Given the description of an element on the screen output the (x, y) to click on. 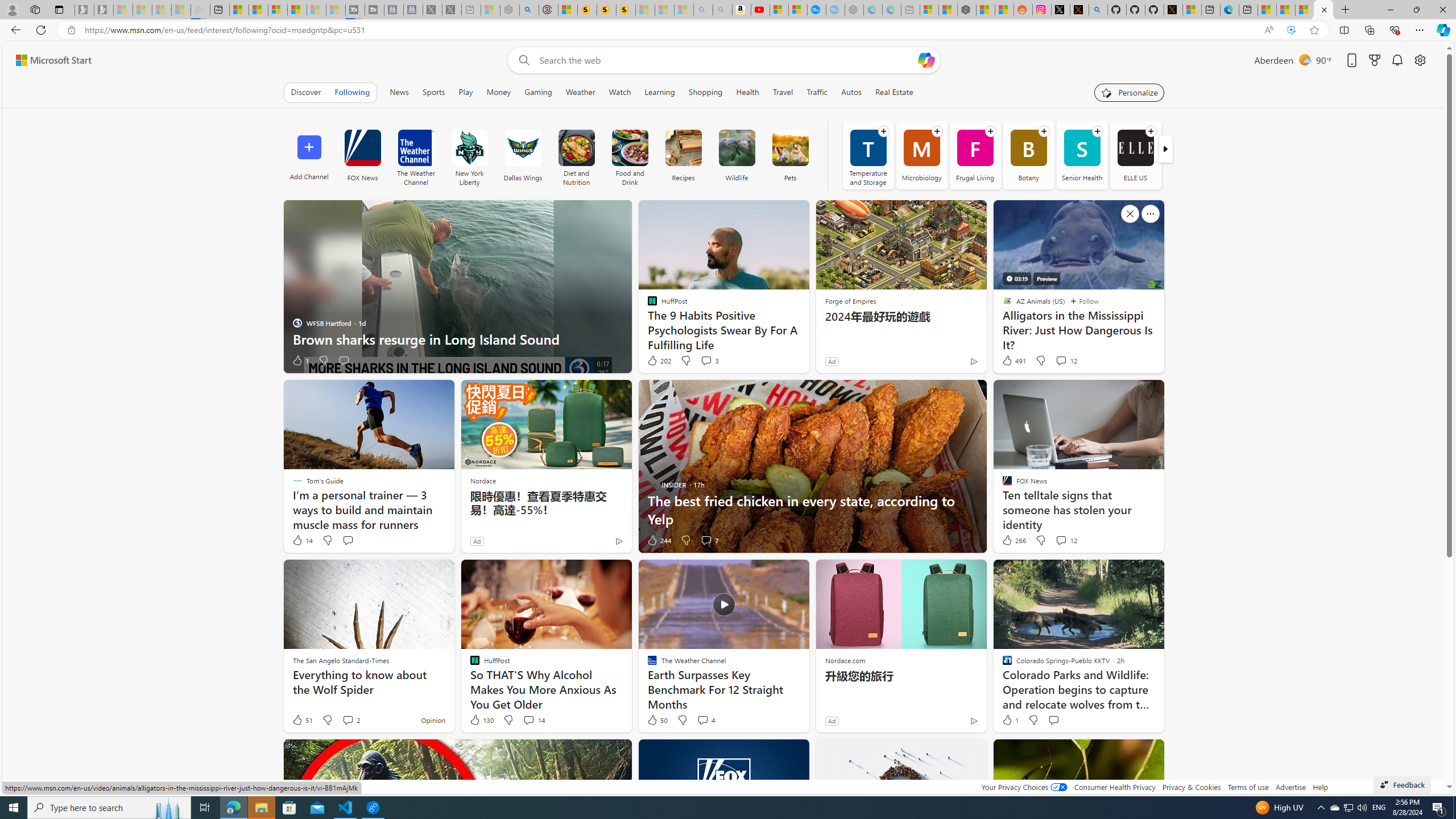
Shopping (705, 92)
Food and Drink (629, 147)
View comments 14 Comment (533, 719)
New York Liberty (469, 155)
The Weather Channel (416, 155)
